Given the description of an element on the screen output the (x, y) to click on. 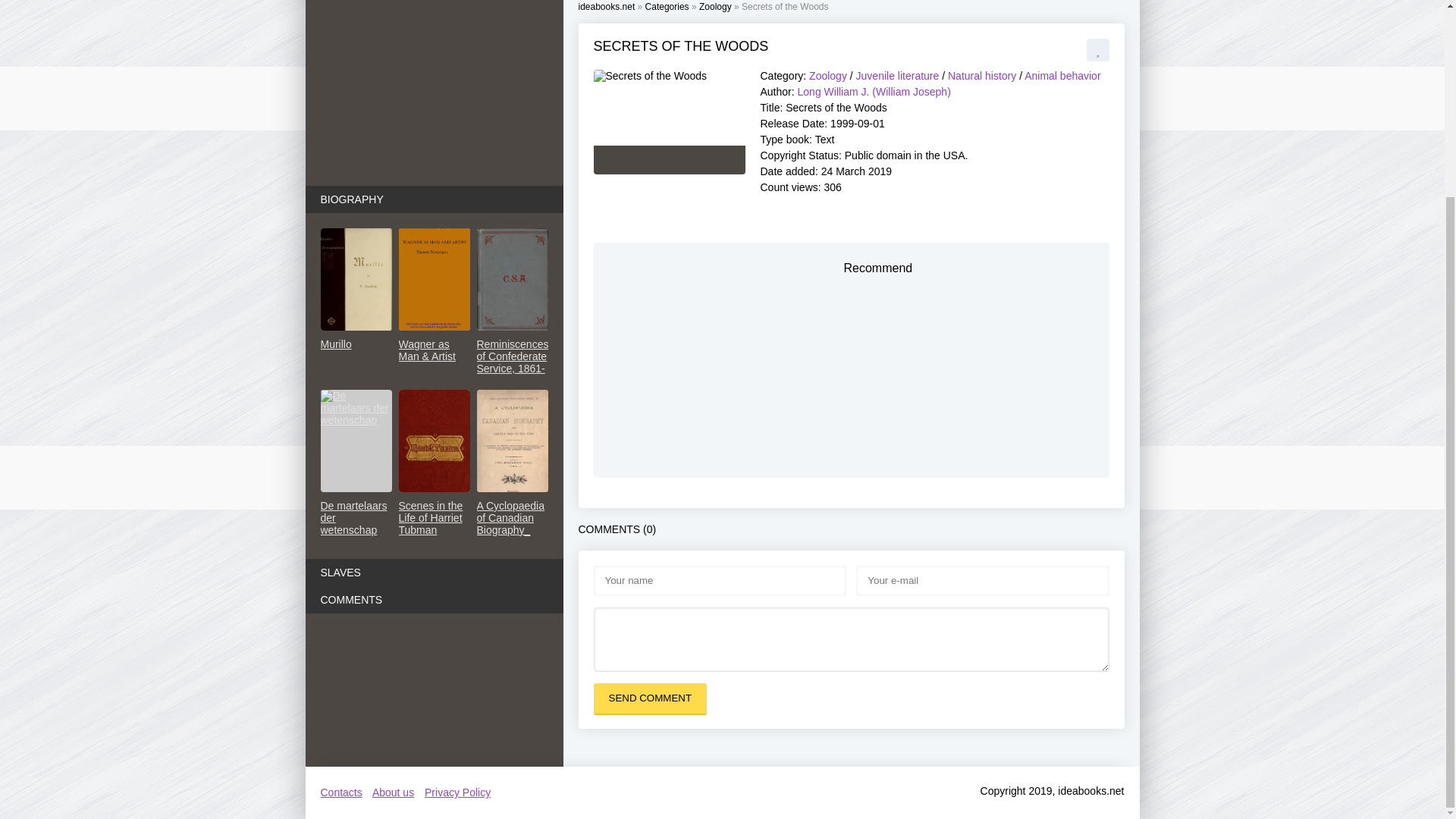
Natural history (981, 75)
ideabooks.net (606, 6)
Poor (623, 159)
add to favorites (1097, 49)
Animal behavior (1062, 75)
Zoology (828, 75)
Zoology (715, 6)
Excellent (662, 159)
Categories (666, 6)
Useless (610, 159)
